Given the description of an element on the screen output the (x, y) to click on. 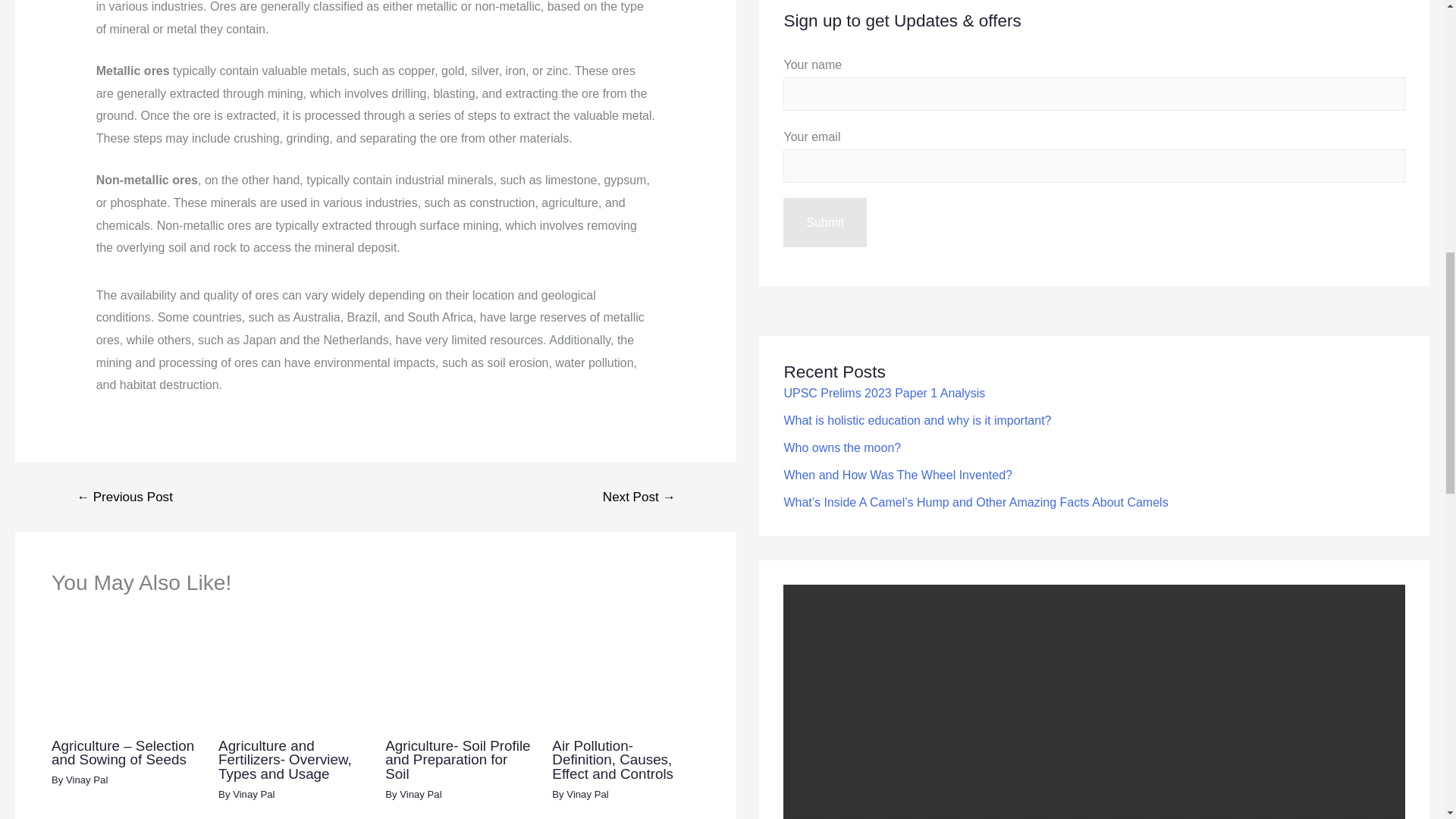
View all posts by Vinay Pal (419, 794)
Submit (824, 223)
View all posts by Vinay Pal (587, 794)
View all posts by Vinay Pal (86, 779)
View all posts by Vinay Pal (253, 794)
